Given the description of an element on the screen output the (x, y) to click on. 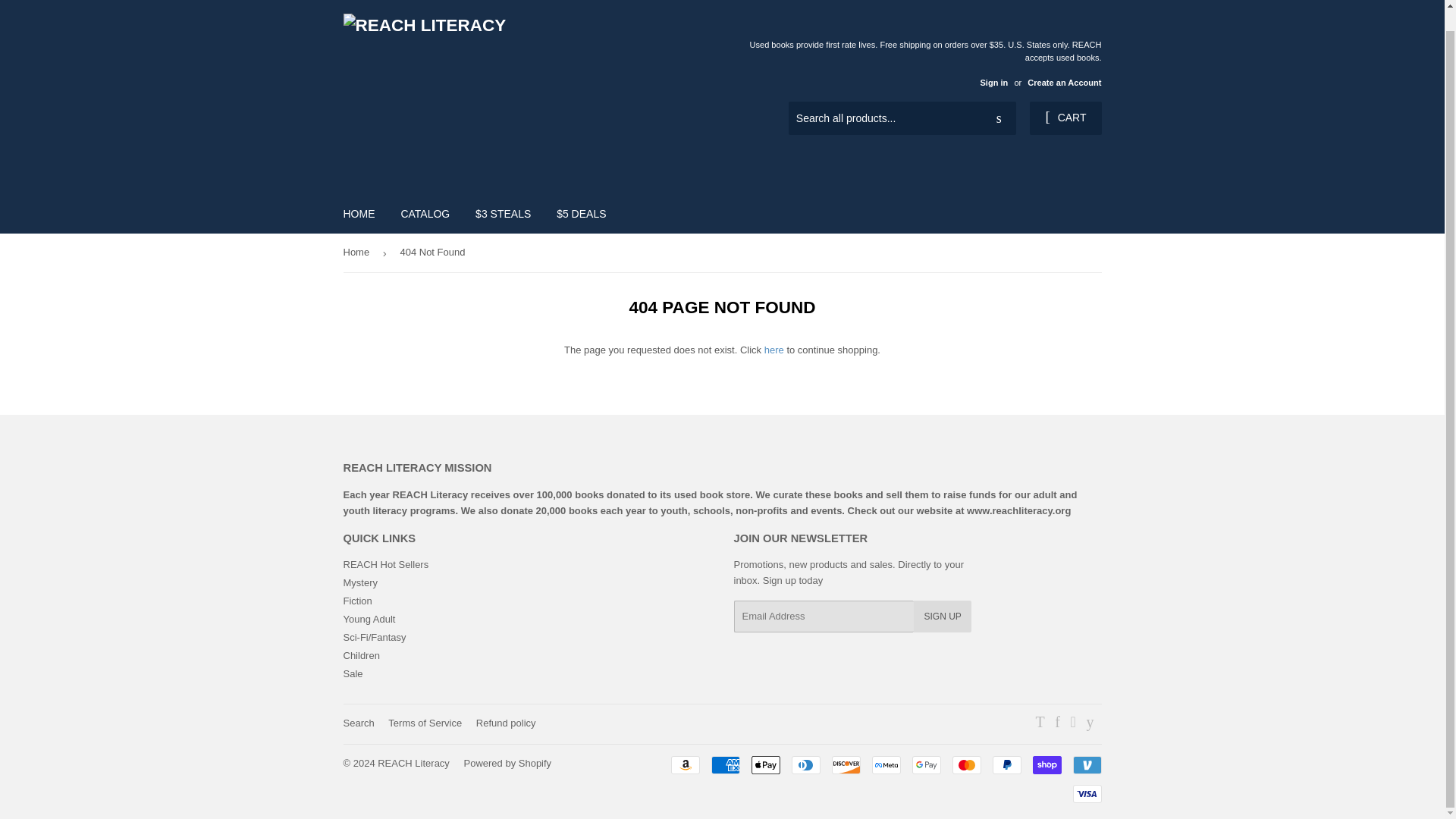
Discover (845, 764)
SIGN UP (942, 616)
Meta Pay (886, 764)
Diners Club (806, 764)
Apple Pay (764, 764)
REACH Hot Sellers (385, 564)
Amazon (683, 764)
Shop Pay (1046, 764)
Mastercard (966, 764)
Refund policy (505, 722)
Sale (352, 673)
Search (998, 119)
Create an Account (1063, 81)
Children (360, 655)
Venmo (1085, 764)
